Given the description of an element on the screen output the (x, y) to click on. 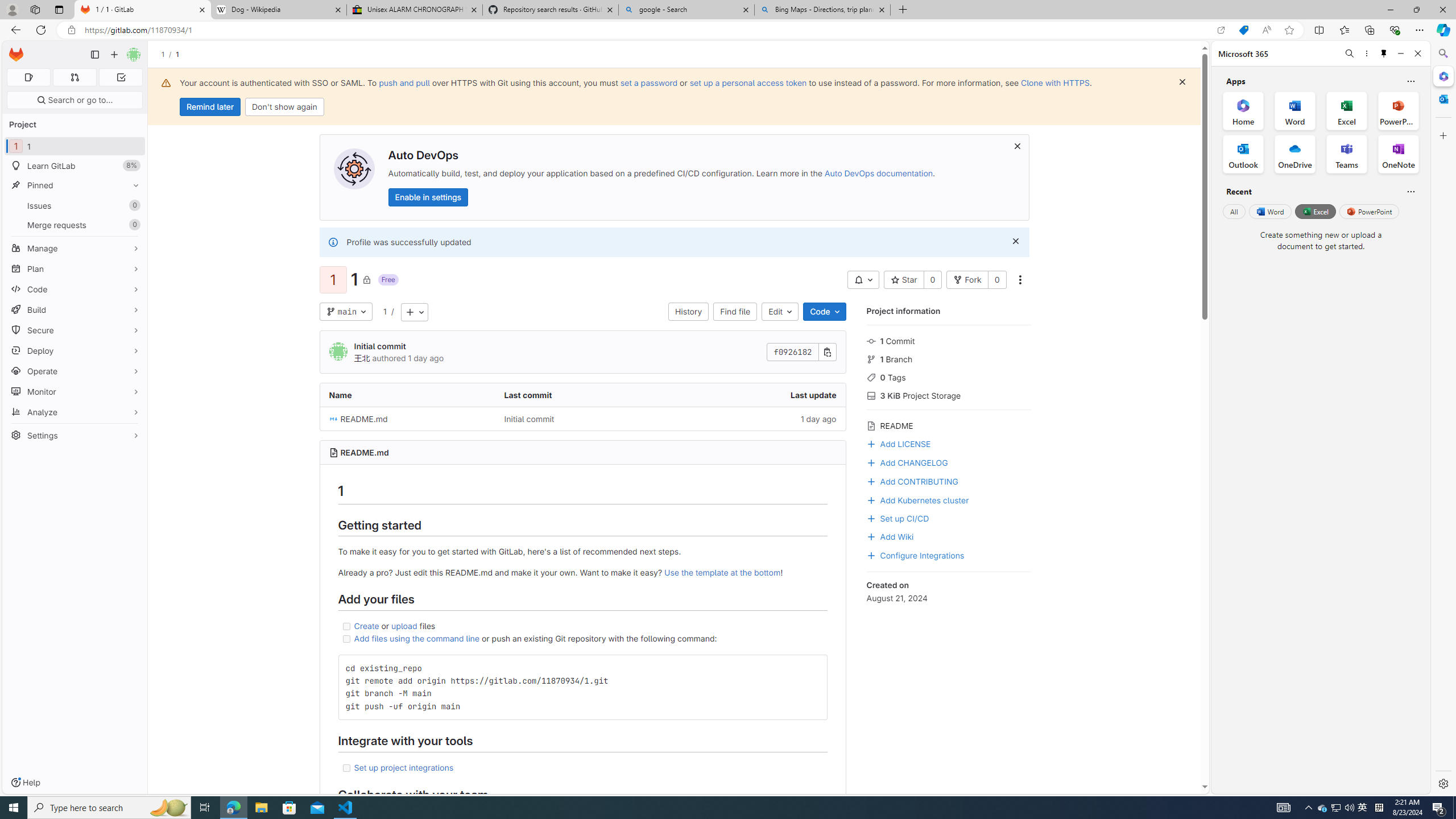
Teams Office App (1346, 154)
Class: s16 gl-blue-500! gl-mr-3 (871, 555)
Manage (74, 248)
Outlook Office App (1243, 154)
README.md (407, 418)
Add Wiki (890, 535)
Class: s16 gl-alert-icon gl-alert-icon-no-title (332, 241)
Secure (74, 330)
Code (824, 311)
Home Office App (1243, 110)
Class: task-list-item-checkbox (346, 767)
AutomationID: __BVID__498__BV_toggle_ (863, 280)
Create or upload files (582, 626)
All (1233, 210)
Dismiss (1015, 241)
